Given the description of an element on the screen output the (x, y) to click on. 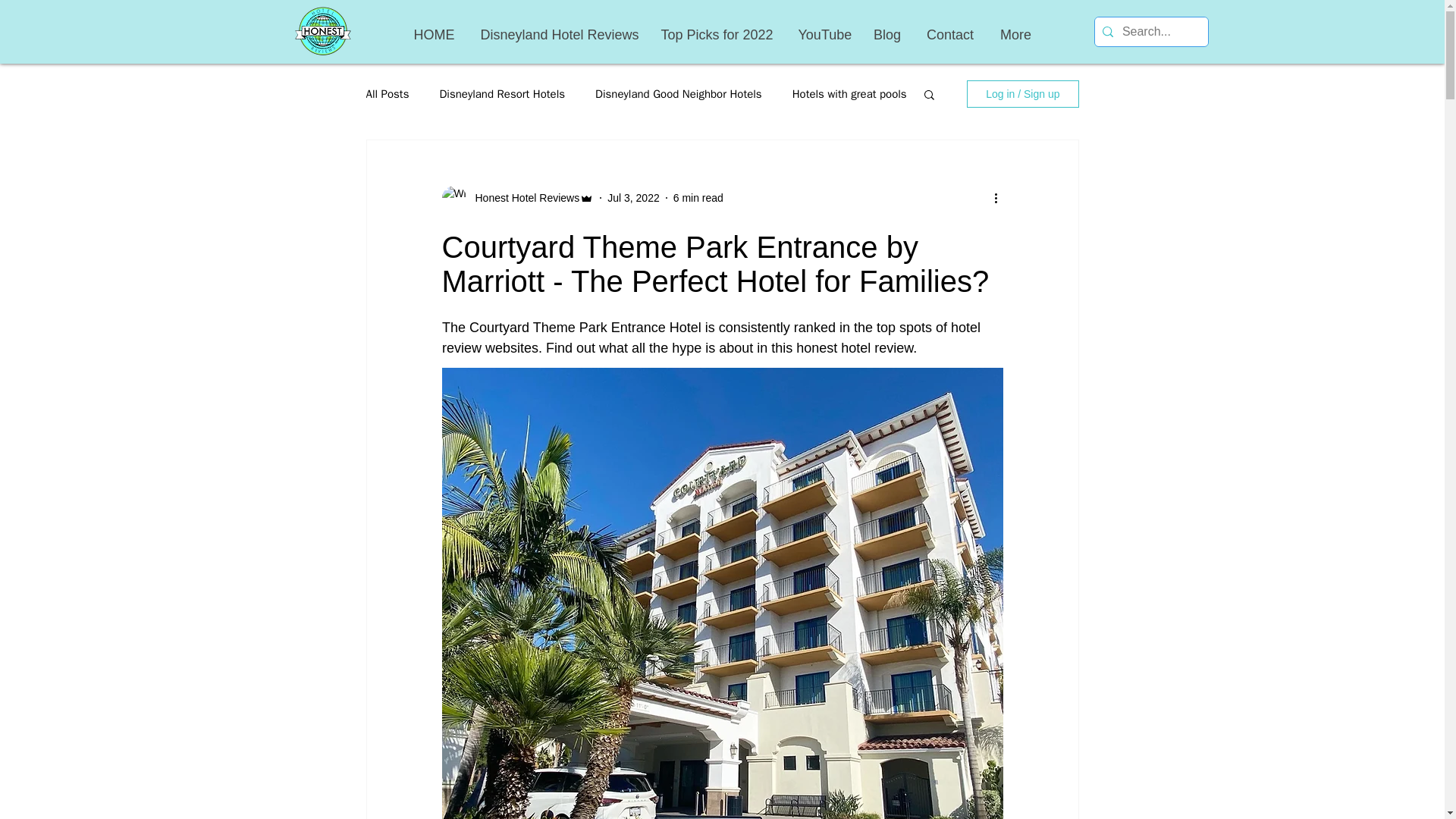
Contact (948, 34)
YouTube (823, 34)
Top Picks for 2022 (716, 34)
6 min read (697, 196)
Jul 3, 2022 (633, 196)
Blog (886, 34)
All Posts (387, 93)
Honest Hotel Reviews (522, 197)
HOME (434, 34)
Disneyland Good Neighbor Hotels (678, 93)
